Given the description of an element on the screen output the (x, y) to click on. 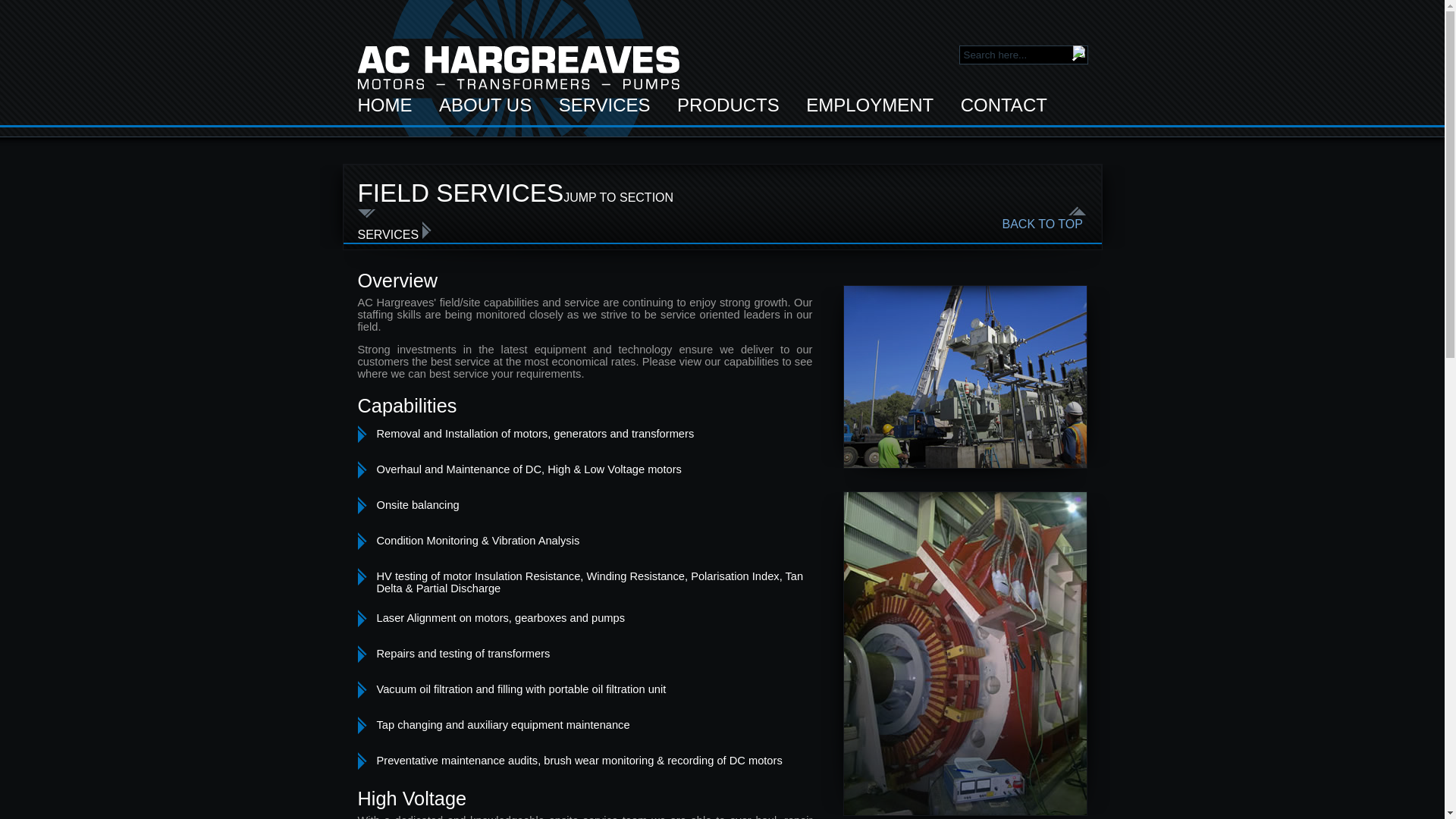
ABOUT US (485, 105)
SERVICES (604, 105)
PRODUCTS (727, 105)
Search here... (1022, 54)
HOME (385, 105)
CONTACT (1003, 105)
EMPLOYMENT (869, 105)
